Given the description of an element on the screen output the (x, y) to click on. 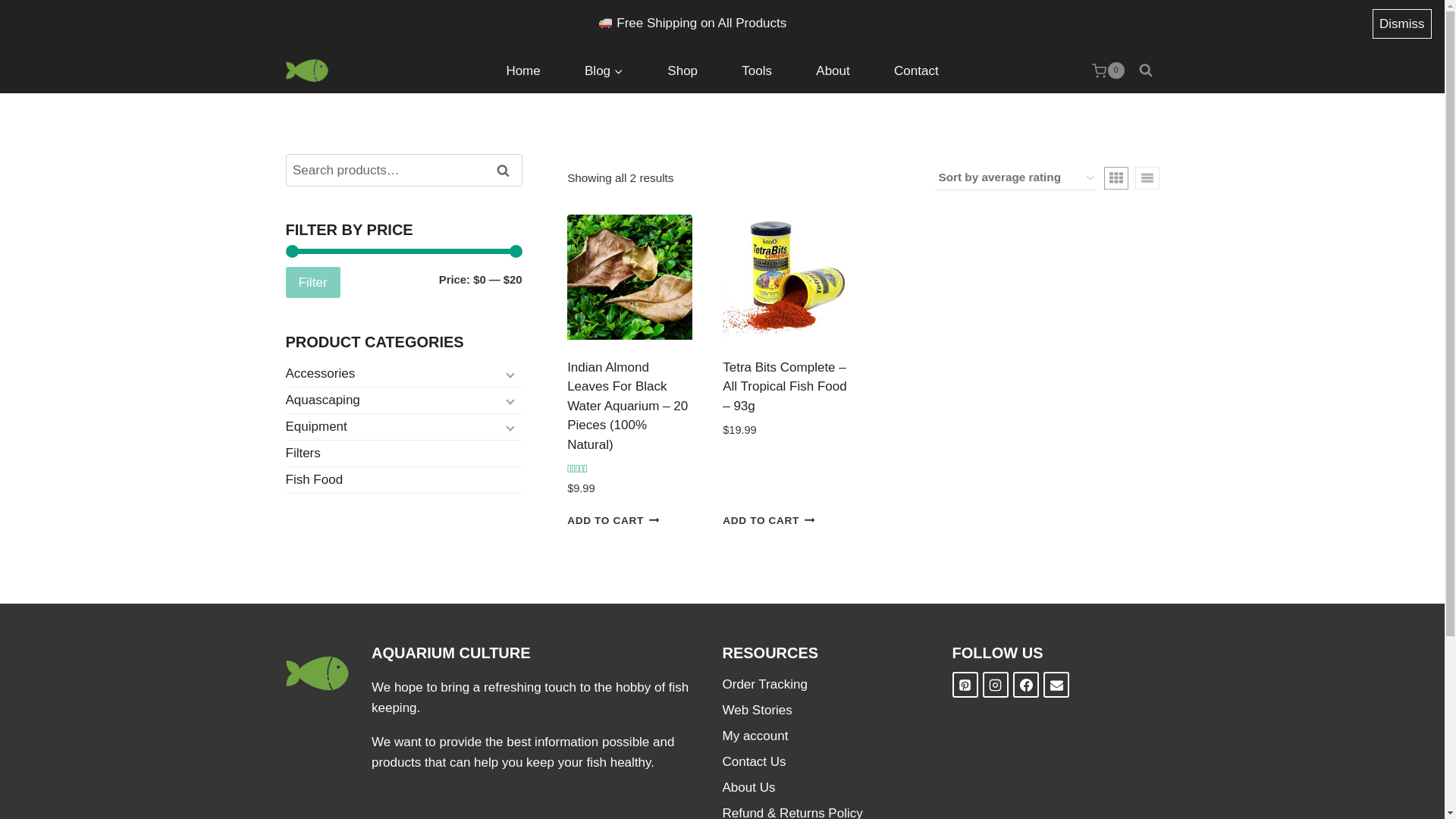
Grid View (1115, 178)
Tools (756, 70)
Search (503, 169)
Accessories (403, 374)
Shop (682, 70)
About (832, 70)
List View (1146, 178)
Contact (916, 70)
Filter (312, 282)
0 (1108, 70)
